Given the description of an element on the screen output the (x, y) to click on. 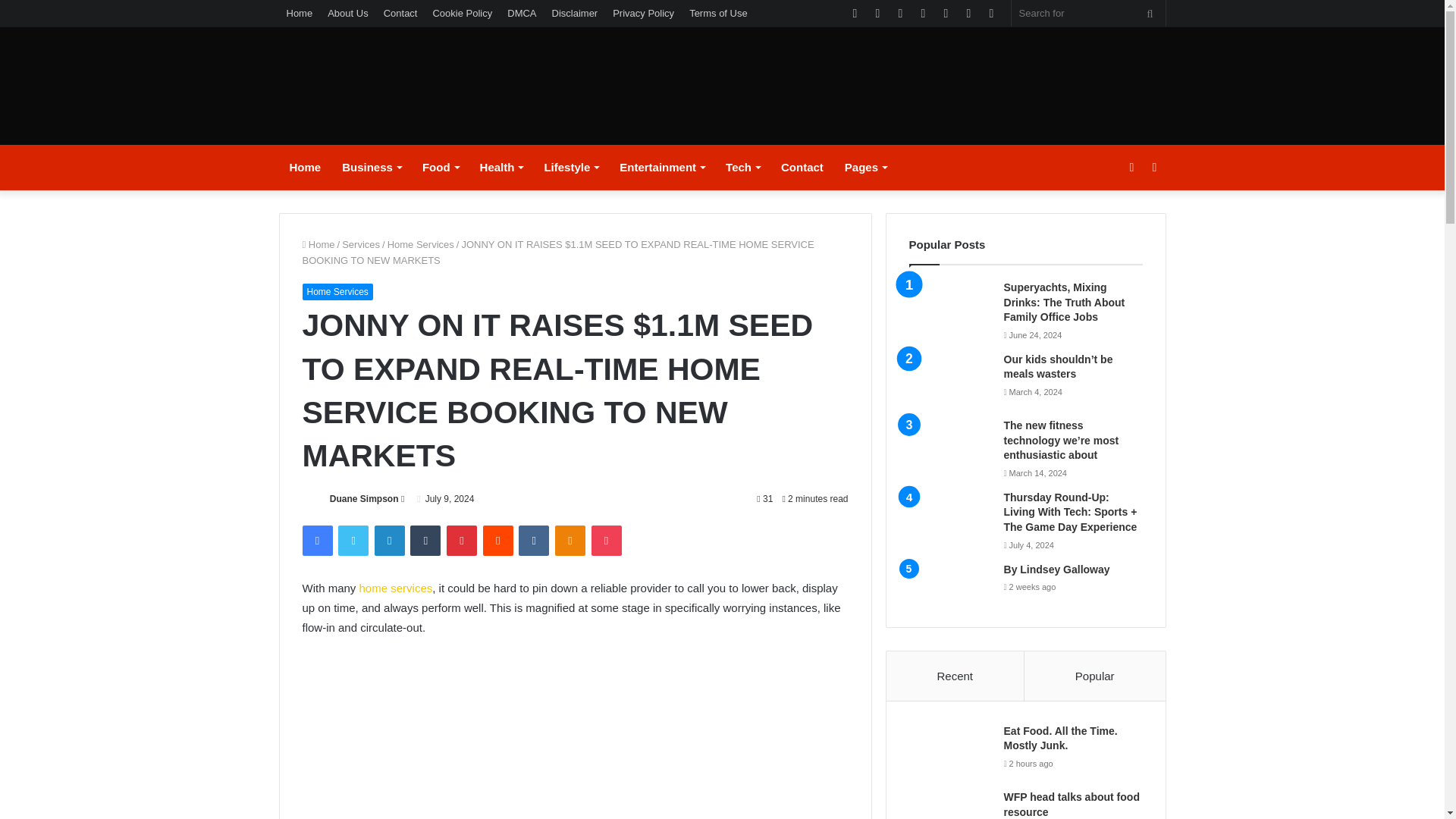
Cookie Policy (462, 13)
Search for (1088, 13)
Odnoklassniki (569, 540)
Lifestyle (570, 167)
DMCA (521, 13)
Contact (400, 13)
Terms of Use (718, 13)
Food (440, 167)
Reddit (498, 540)
Home (305, 167)
